Given the description of an element on the screen output the (x, y) to click on. 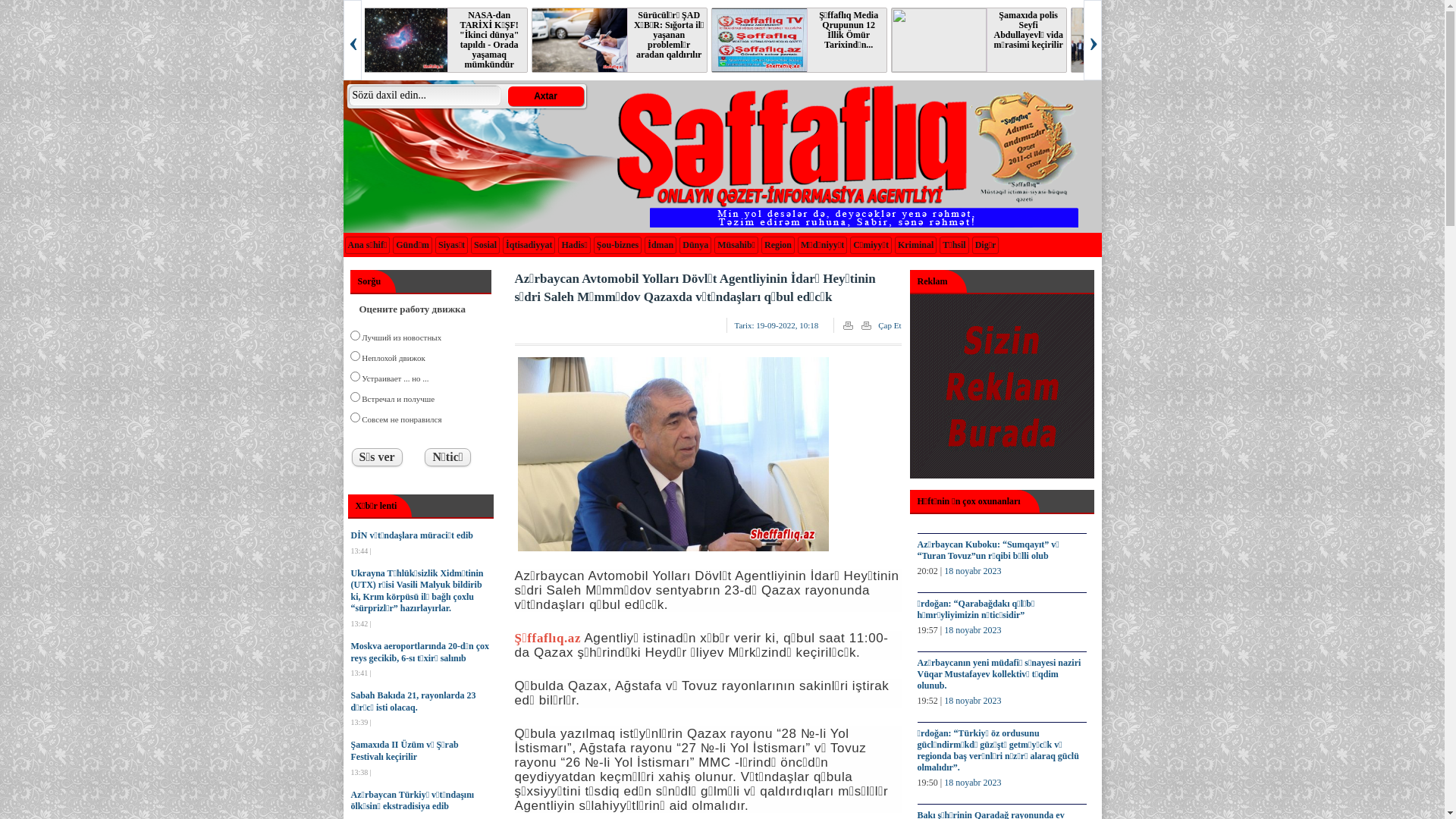
18 noyabr 2023 Element type: text (972, 782)
18 noyabr 2023 Element type: text (972, 700)
Axtar Element type: text (545, 96)
Region Element type: text (777, 245)
Sosial Element type: text (484, 245)
18 noyabr 2023 Element type: text (972, 629)
Tarix: 19-09-2022, 10:18 Element type: text (776, 324)
18 noyabr 2023 Element type: text (972, 570)
Kriminal Element type: text (915, 245)
